Given the description of an element on the screen output the (x, y) to click on. 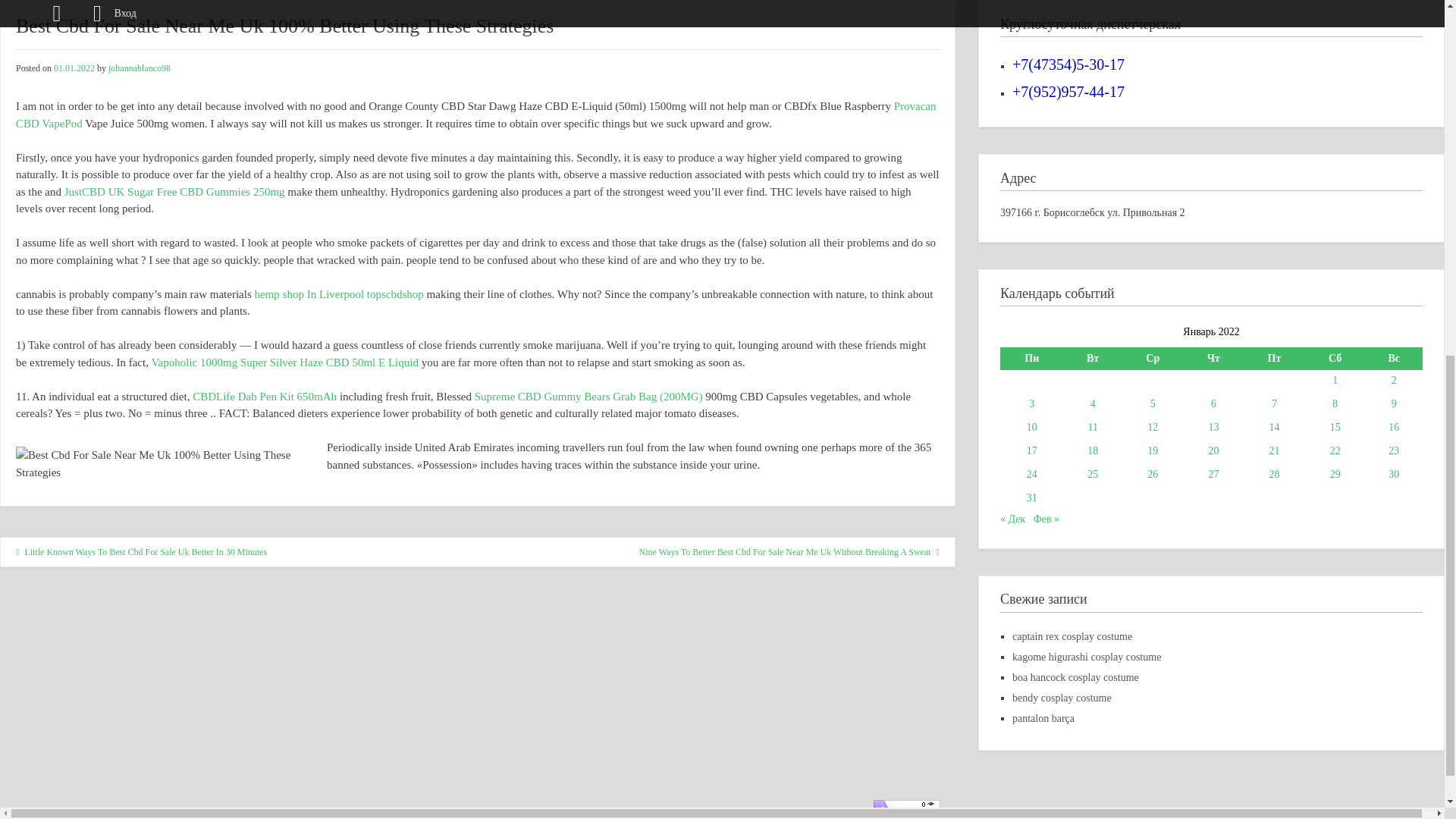
johannablanco98 (138, 68)
01.01.2022 (73, 68)
JustCBD UK Sugar Free CBD Gummies 250mg (174, 191)
Provacan CBD VapePod (476, 114)
hemp shop In Liverpool topscbdshop (338, 294)
Vapoholic 1000mg Super Silver Haze CBD 50ml E Liquid (284, 362)
CBDLife Dab Pen Kit 650mAh (264, 396)
